Given the description of an element on the screen output the (x, y) to click on. 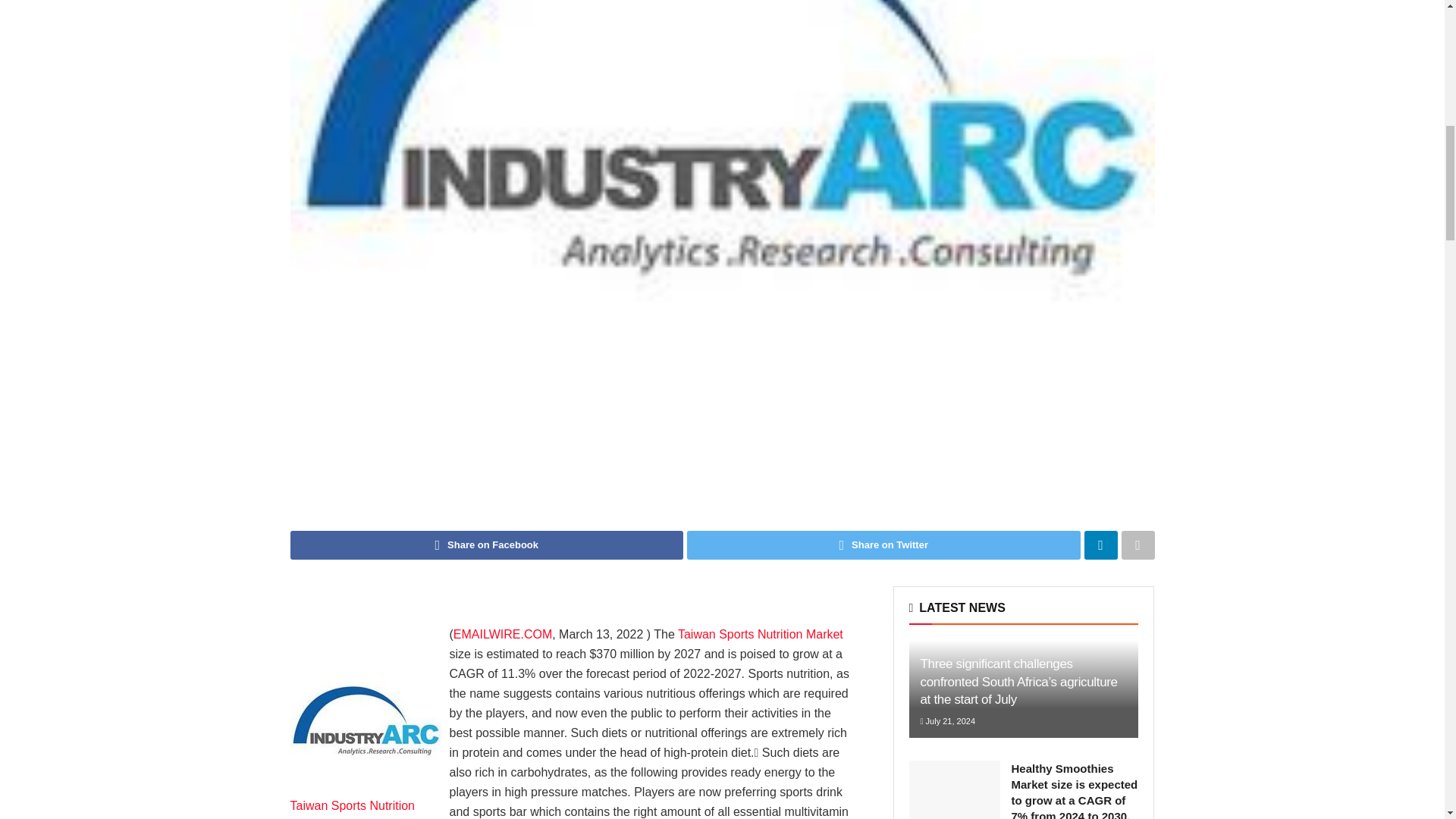
Taiwan Sports Nutrition Market (365, 720)
